Given the description of an element on the screen output the (x, y) to click on. 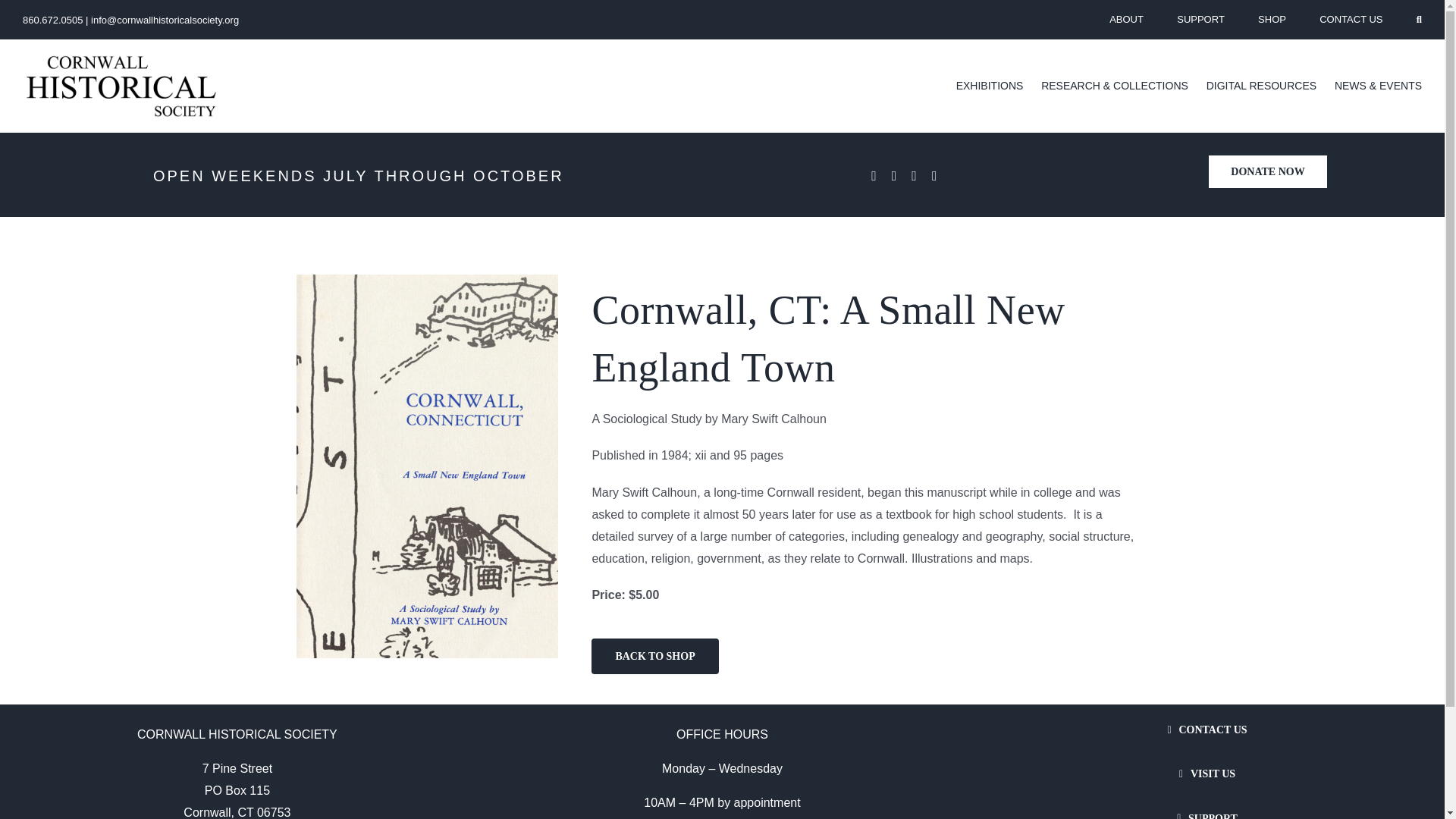
CornwallASmallNewEnglandTown (427, 279)
CONTACT US (1350, 19)
860.672.0505 (52, 19)
DIGITAL RESOURCES (1261, 86)
SUPPORT (1200, 19)
EXHIBITIONS (989, 86)
